Given the description of an element on the screen output the (x, y) to click on. 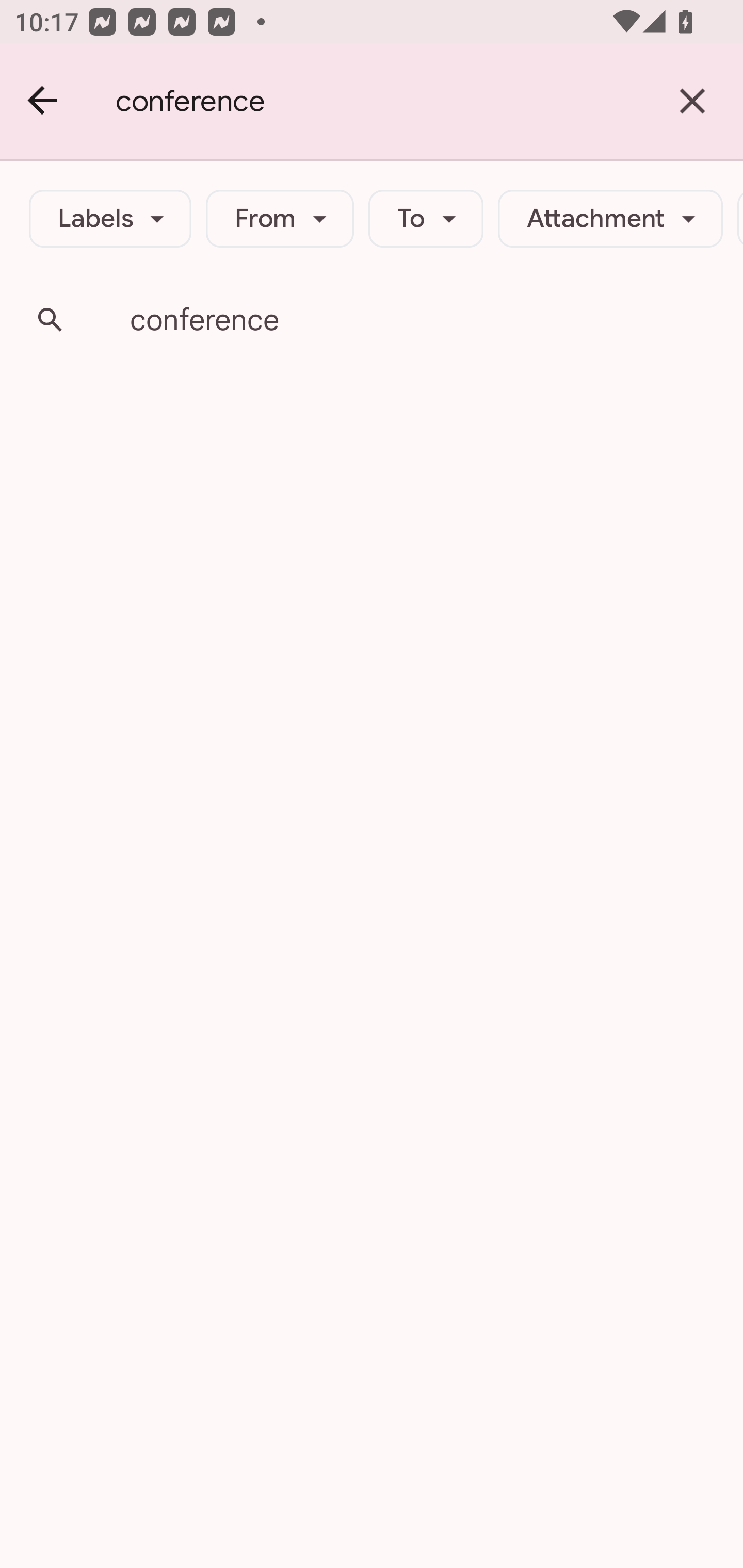
Back (43, 101)
conference (378, 101)
Clear text (692, 101)
Labels (109, 218)
From (279, 218)
To (425, 218)
Attachment (609, 218)
conference Suggestion: conference (371, 319)
